Given the description of an element on the screen output the (x, y) to click on. 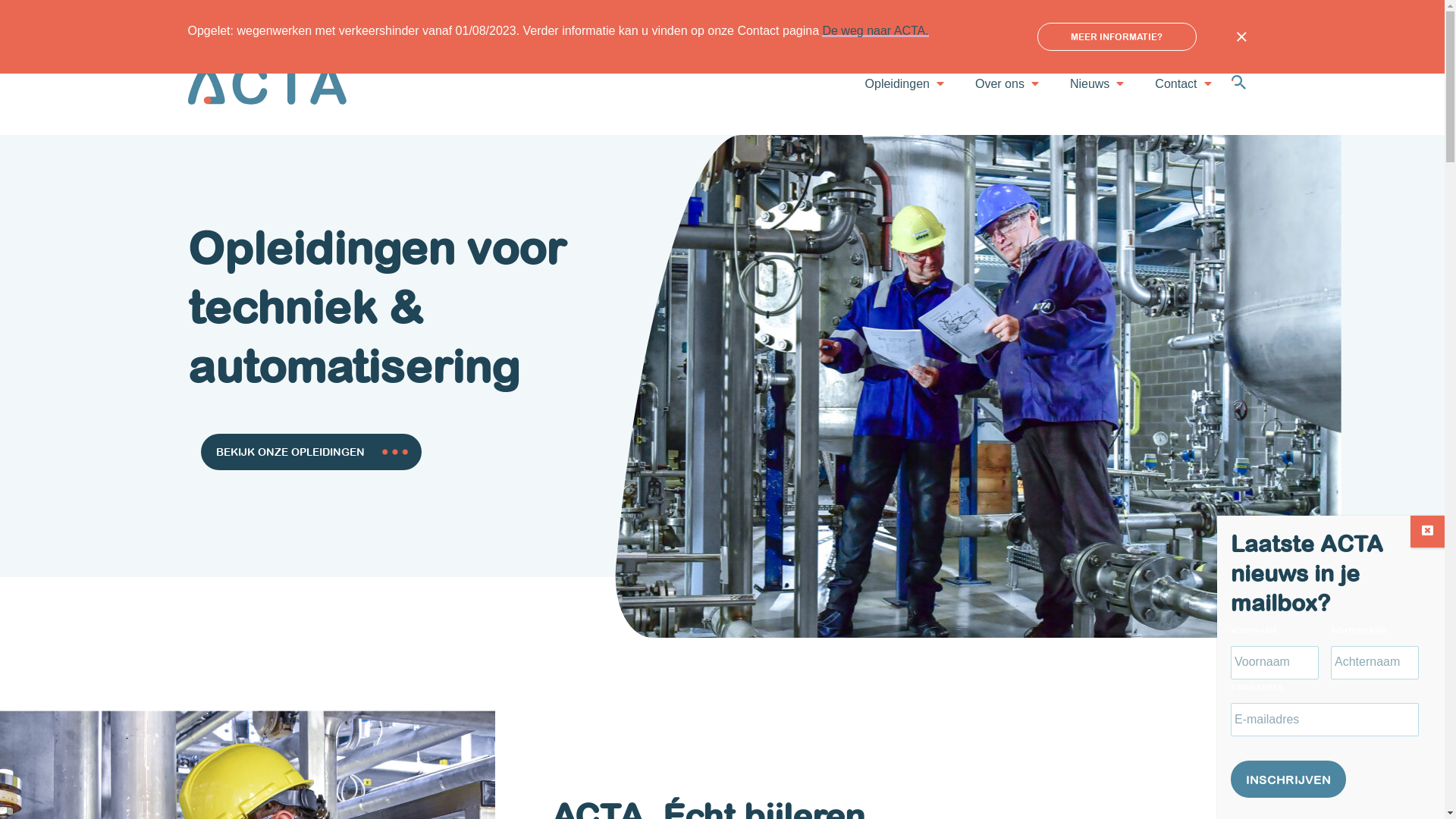
acta.info@acta-vzw.be Element type: text (259, 14)
MEER INFORMATIE? Element type: text (1116, 36)
Home Element type: text (1242, 14)
De weg naar ACTA. Element type: text (875, 30)
Vacatures Element type: text (1093, 14)
Over ons Element type: text (999, 84)
E-Campus Element type: text (1173, 14)
Opleidingen Element type: text (897, 84)
inschrijven Element type: text (1288, 778)
Contact Element type: text (1175, 84)
+32(0)3 620 23 00 Element type: text (387, 14)
BEKIJK ONZE OPLEIDINGEN Element type: text (310, 451)
Nieuws Element type: text (1089, 84)
